Given the description of an element on the screen output the (x, y) to click on. 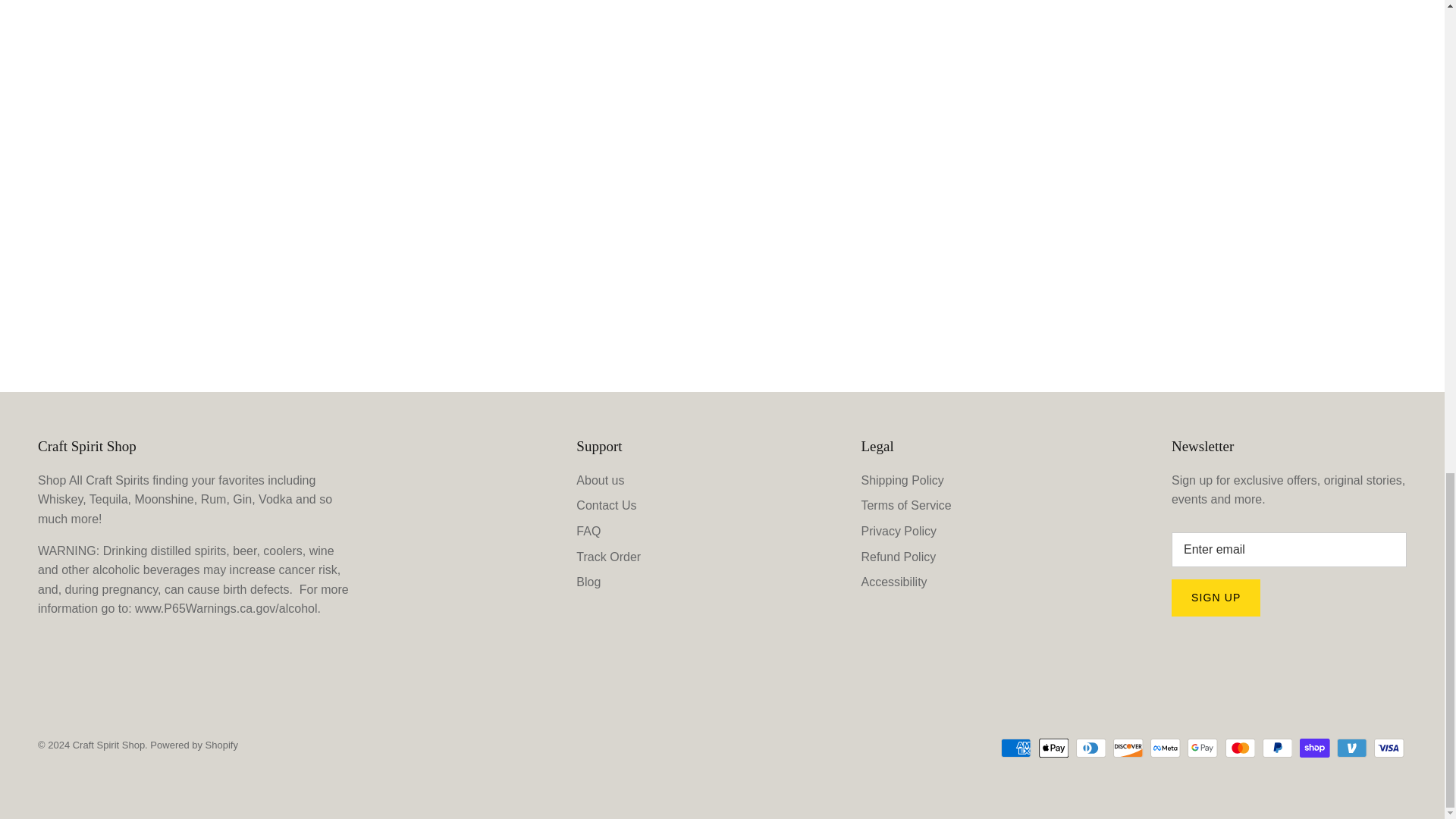
Discover (1127, 747)
Mastercard (1240, 747)
Meta Pay (1165, 747)
Shop Pay (1314, 747)
WARNING: Drinking (227, 608)
Apple Pay (1053, 747)
American Express (1015, 747)
PayPal (1277, 747)
Diners Club (1090, 747)
Google Pay (1202, 747)
